Given the description of an element on the screen output the (x, y) to click on. 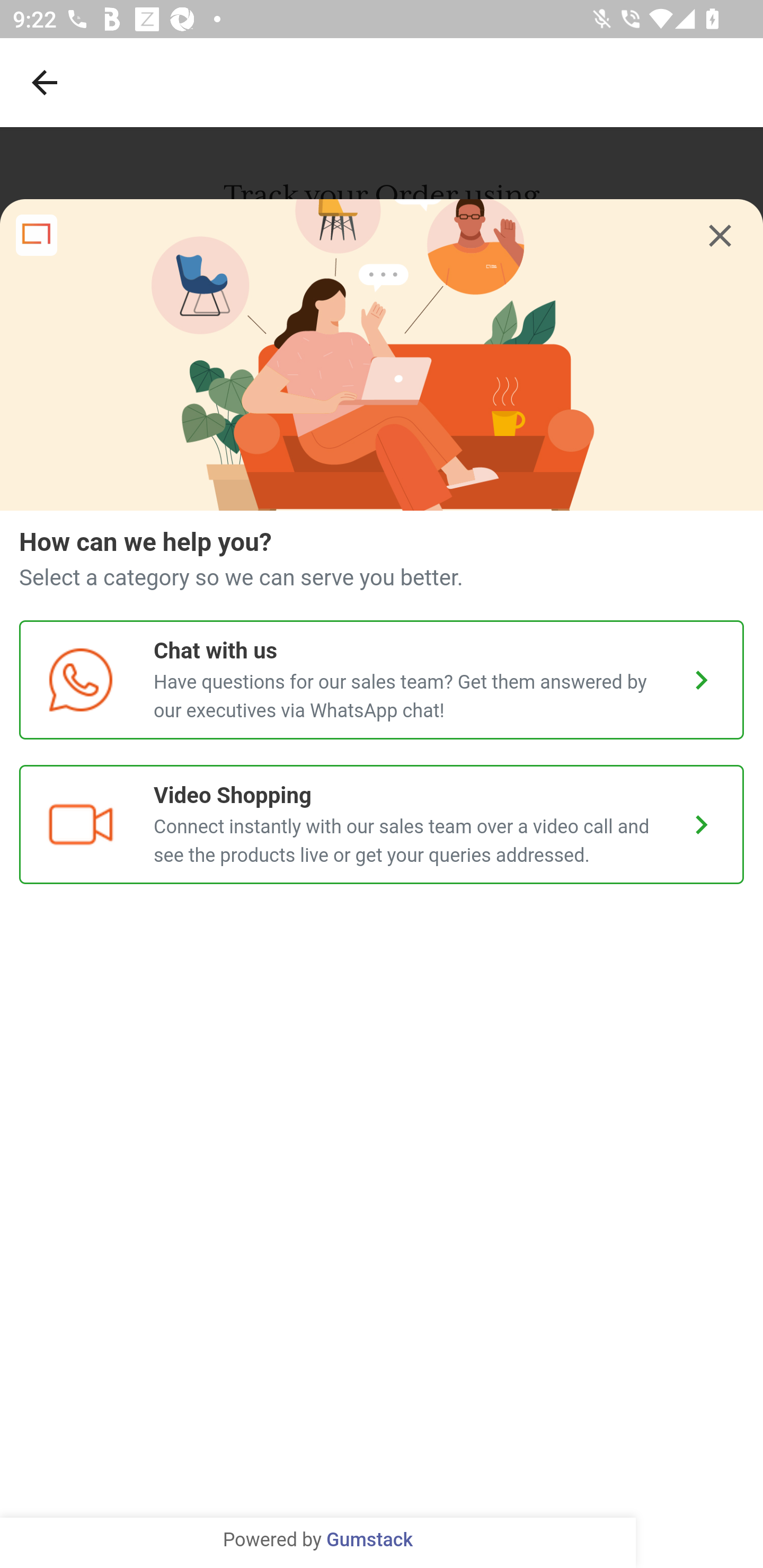
Navigate up (44, 82)
clear (720, 235)
Gumstack (369, 1540)
